Given the description of an element on the screen output the (x, y) to click on. 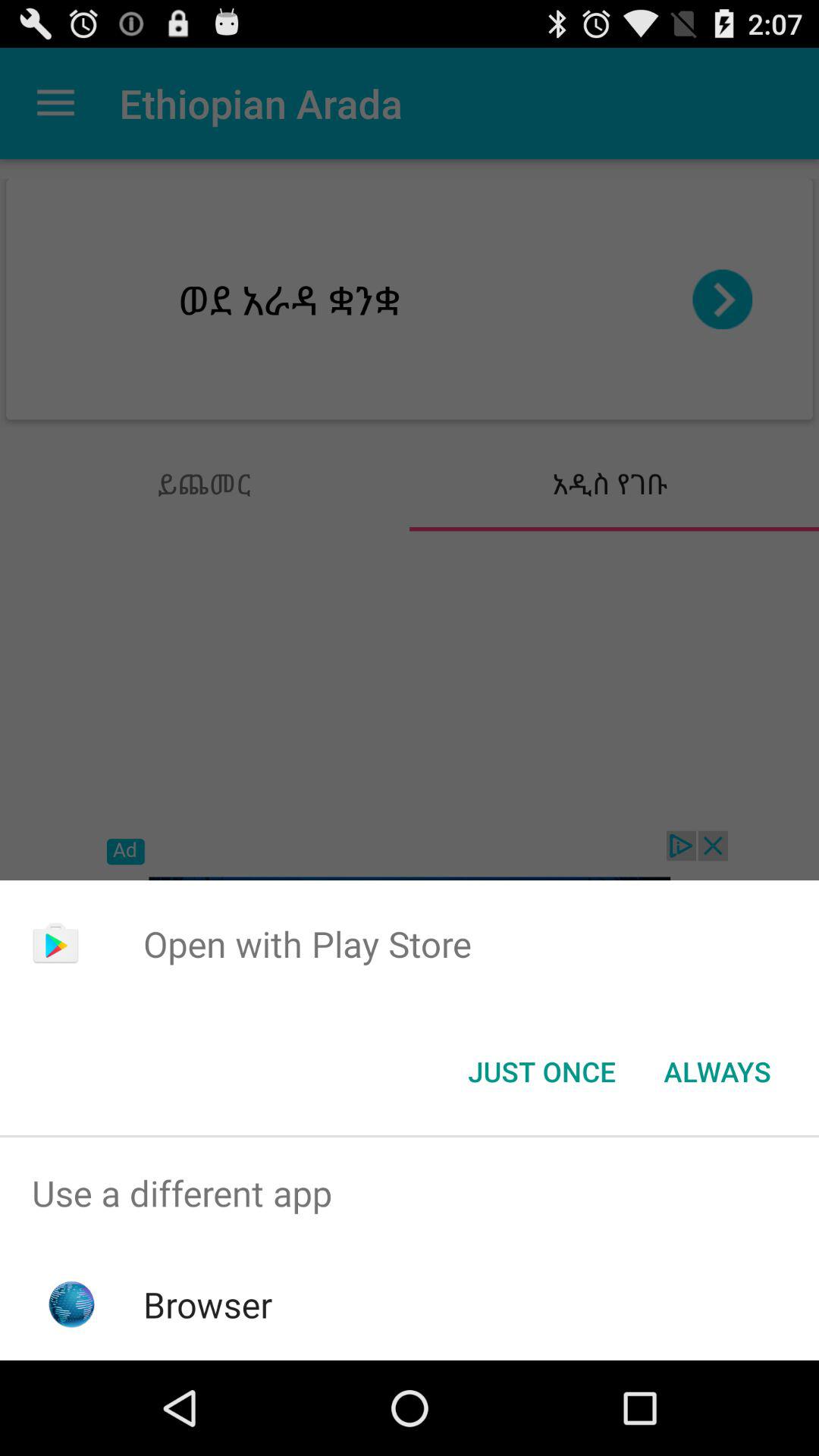
choose the icon next to just once button (717, 1071)
